Given the description of an element on the screen output the (x, y) to click on. 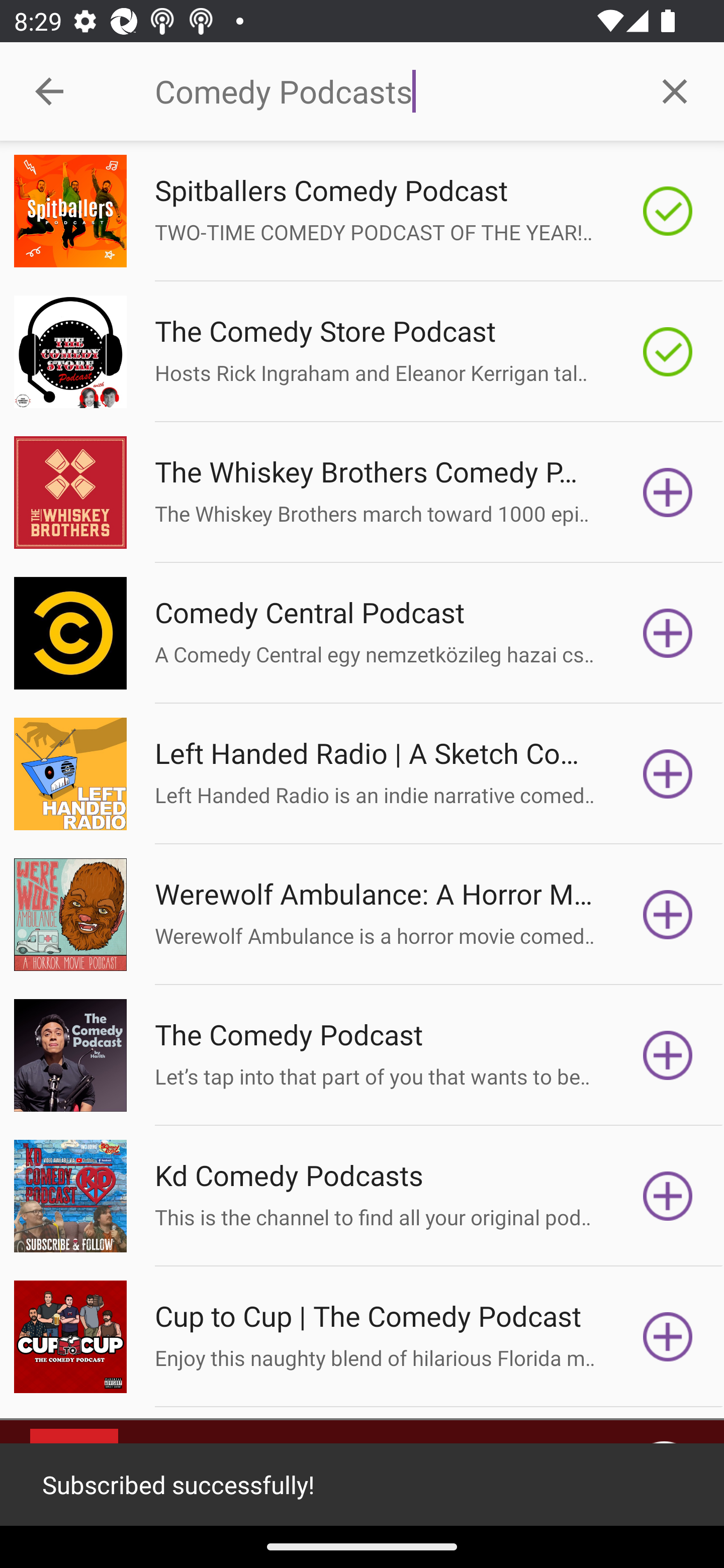
Collapse (49, 91)
Clear query (674, 90)
Comedy Podcasts (389, 91)
Subscribed (667, 211)
Subscribed (667, 350)
Subscribe (667, 491)
Subscribe (667, 633)
Subscribe (667, 773)
Subscribe (667, 913)
Subscribe (667, 1054)
Subscribe (667, 1195)
Subscribe (667, 1336)
Subscribed successfully! (362, 1484)
